Given the description of an element on the screen output the (x, y) to click on. 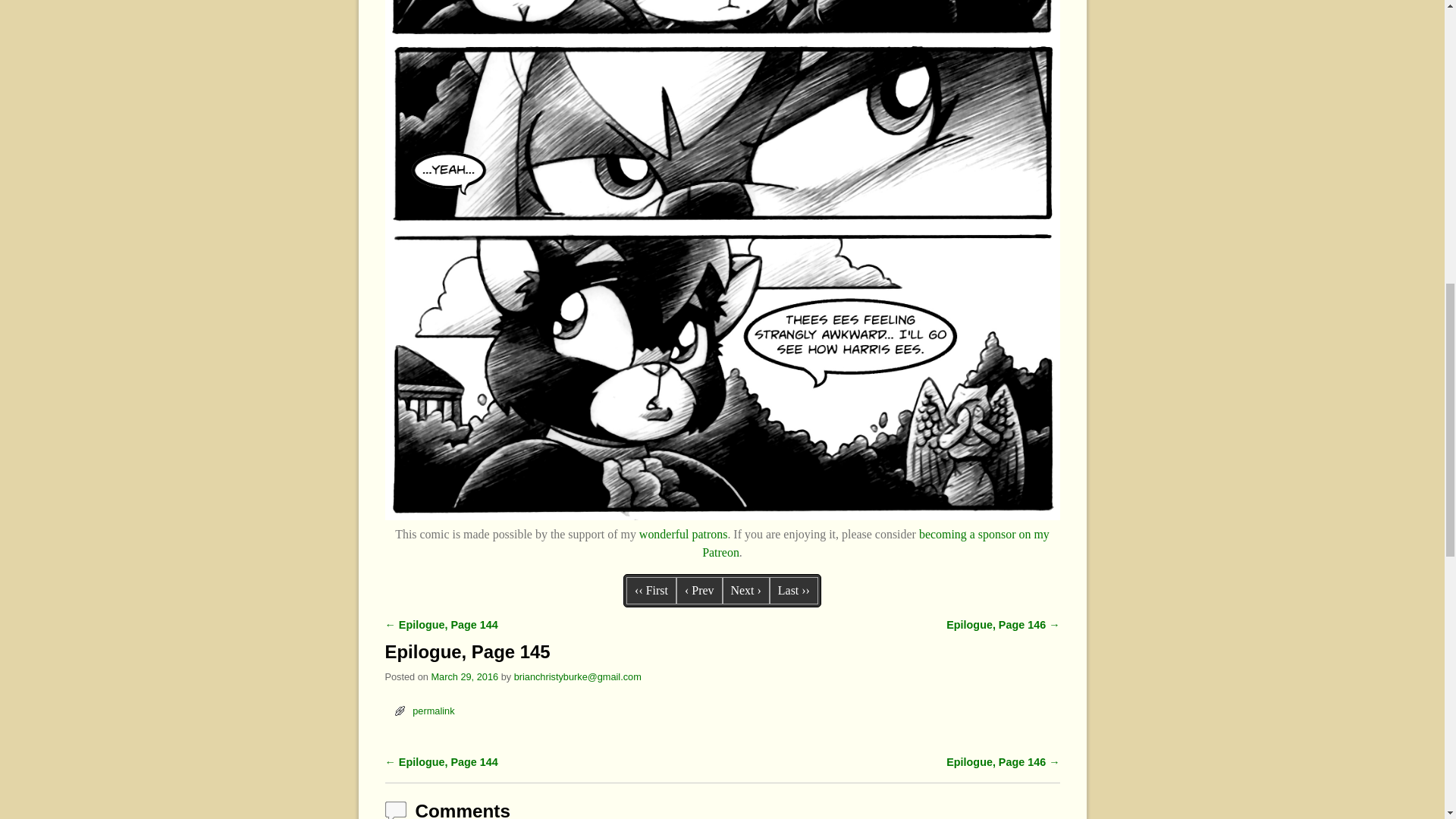
Permalink to Epilogue, Page 145 (433, 710)
wonderful patrons (683, 533)
becoming a sponsor on my Patreon (875, 542)
March 29, 2016 (463, 676)
1:01 am (463, 676)
Epilogue, Page 145 (722, 515)
permalink (433, 710)
